Given the description of an element on the screen output the (x, y) to click on. 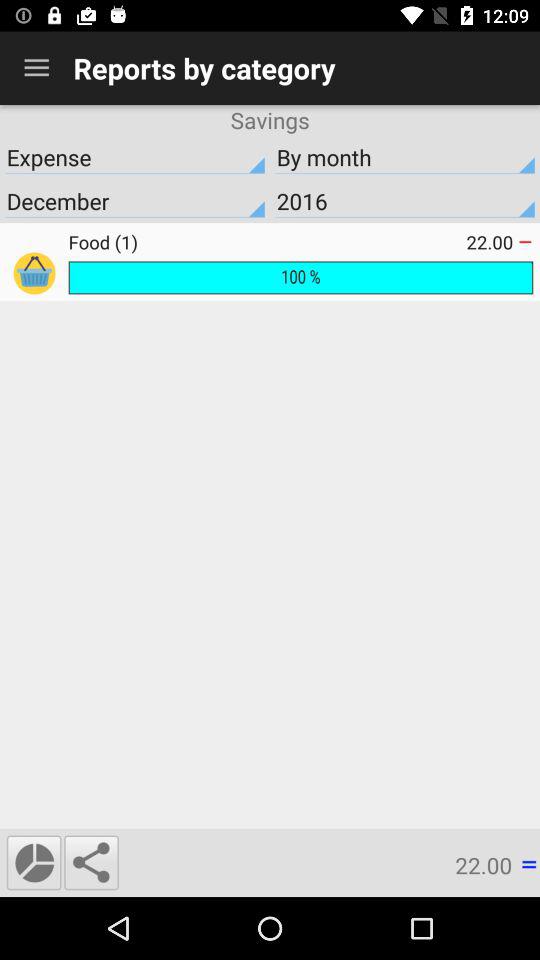
open icon below savings item (405, 157)
